Given the description of an element on the screen output the (x, y) to click on. 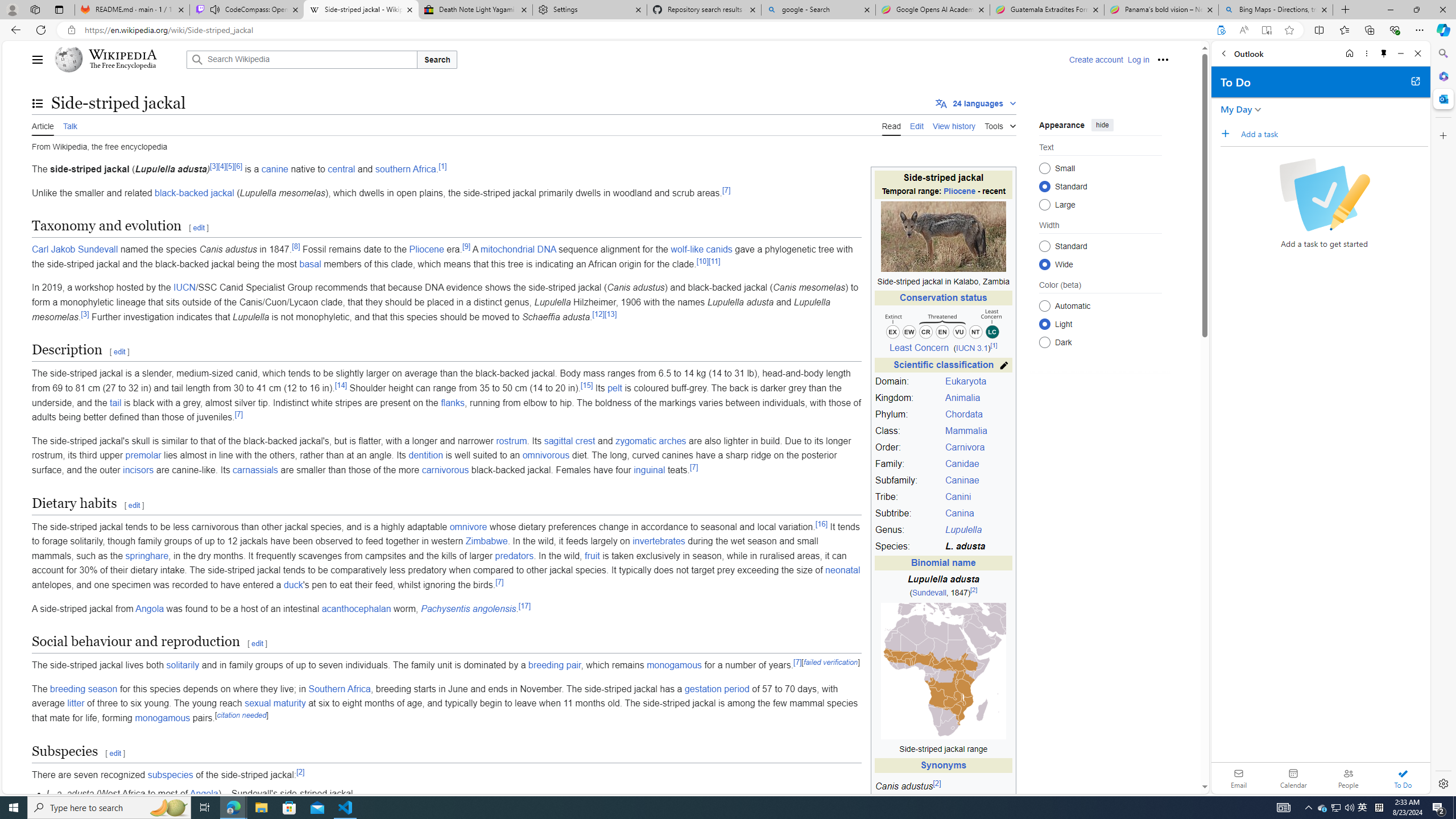
Canini (957, 497)
Angola (203, 793)
dentition (425, 455)
Caninae (961, 480)
black-backed jackal (194, 192)
Binomial name (942, 562)
Calendar. Date today is 22 (1293, 777)
